Given the description of an element on the screen output the (x, y) to click on. 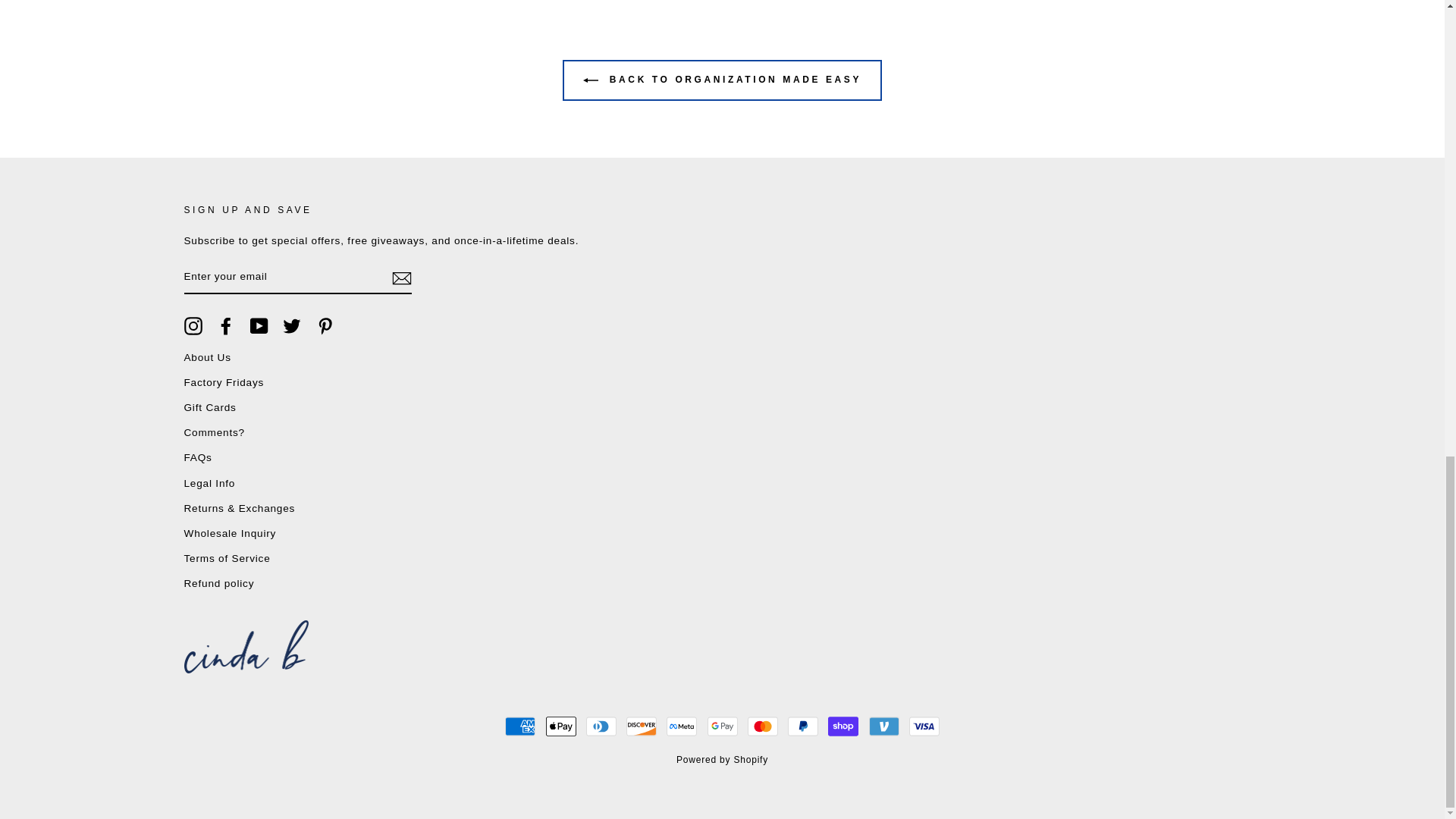
cinda b on Twitter (291, 325)
cinda b on Pinterest (324, 325)
cinda b on YouTube (258, 325)
cinda b on Instagram (192, 325)
cinda b on Facebook (225, 325)
